Given the description of an element on the screen output the (x, y) to click on. 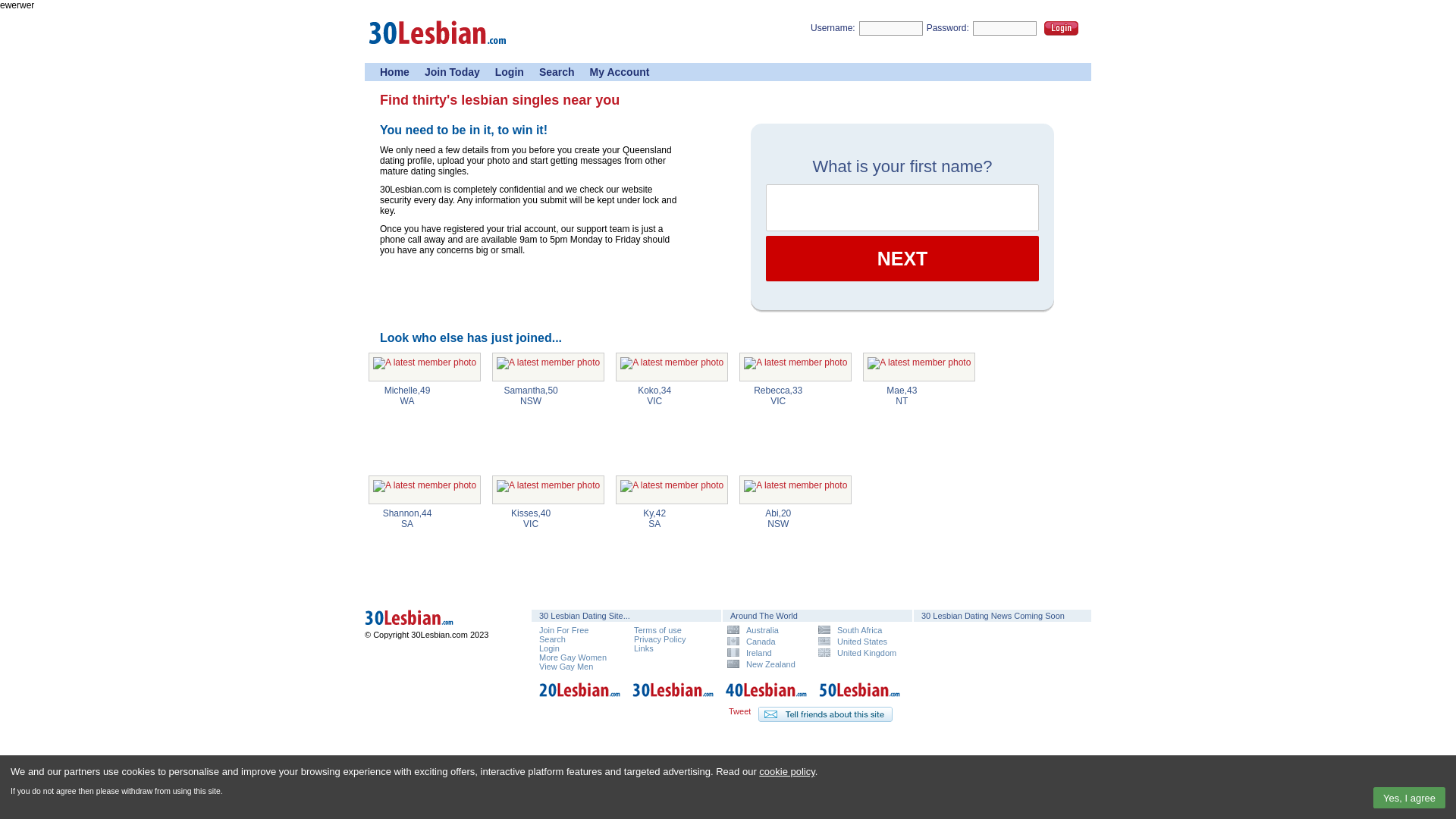
NEXT Element type: text (901, 258)
United Kingdom Element type: text (857, 652)
Mae, 43 from Malak, NT Element type: hover (918, 366)
Terms of use Element type: text (657, 629)
20 Lesbian Dating Element type: hover (580, 697)
Ireland Element type: text (766, 652)
Tweet Element type: text (739, 710)
Samantha, 50 from Werrington County, NSW Element type: hover (548, 366)
Kisses, 40 from Wodonga, VIC Element type: hover (548, 489)
Ky, 42 from Adelaide, SA Element type: hover (671, 489)
Yes, I agree Element type: text (1409, 797)
Home Element type: text (394, 71)
Search Element type: text (552, 638)
30 Lesbian Dating Australia Element type: hover (432, 619)
Search Element type: text (556, 71)
40 Lesbian Dating Element type: hover (766, 697)
Canada Element type: text (766, 641)
Links Element type: text (643, 647)
Shannon, 44 from Adelaide, SA Element type: hover (424, 489)
Rebecca, 33 from Mildura, VIC Element type: hover (795, 366)
Koko, 34 from Flinders Lane, VIC Element type: hover (671, 366)
New Zealand Element type: text (766, 663)
Join Today Element type: text (452, 71)
30 Lesbian Dating Australia Element type: hover (432, 626)
cookie policy Element type: text (786, 771)
Login Element type: text (1061, 28)
My Account Element type: text (619, 71)
South Africa Element type: text (857, 629)
United States Element type: text (857, 641)
Privacy Policy Element type: text (659, 638)
30 Lesbian Dating Element type: hover (673, 697)
Join For Free Element type: text (563, 629)
30 Singles Dating Element type: hover (437, 48)
Login Element type: text (509, 71)
Tell your friends about 30 Lesbian Dating Element type: text (825, 713)
50 Lesbian Dating Element type: hover (859, 697)
View Gay Men Element type: text (566, 666)
Michelle, 49 from Perth St Georges Tce, WA Element type: hover (424, 366)
Australia Element type: text (766, 629)
Login Element type: text (549, 647)
Abi, 20 from Millers Point, NSW Element type: hover (795, 489)
More Gay Women Element type: text (572, 657)
